Given the description of an element on the screen output the (x, y) to click on. 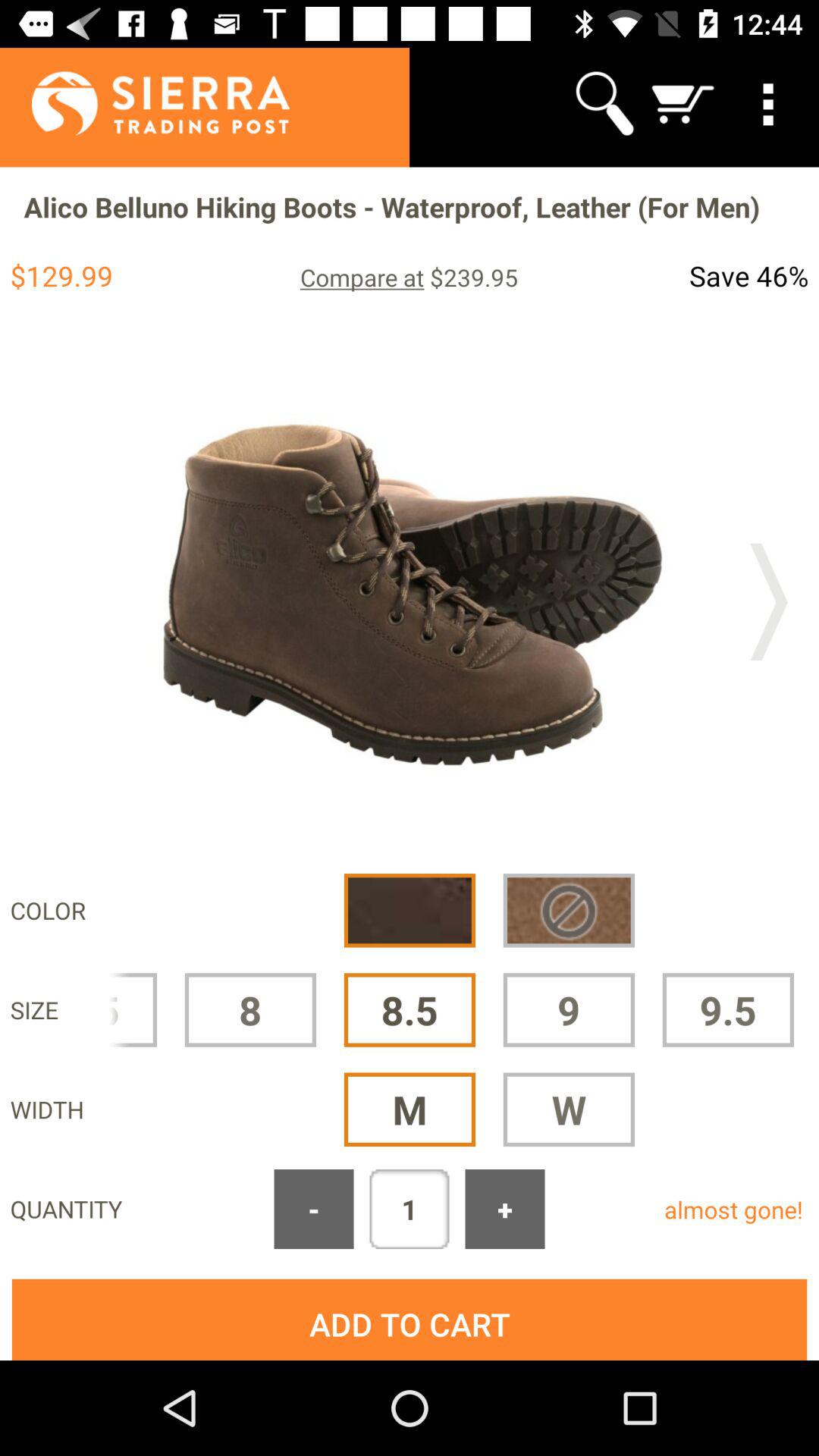
turn on icon below the quantity icon (409, 1319)
